Given the description of an element on the screen output the (x, y) to click on. 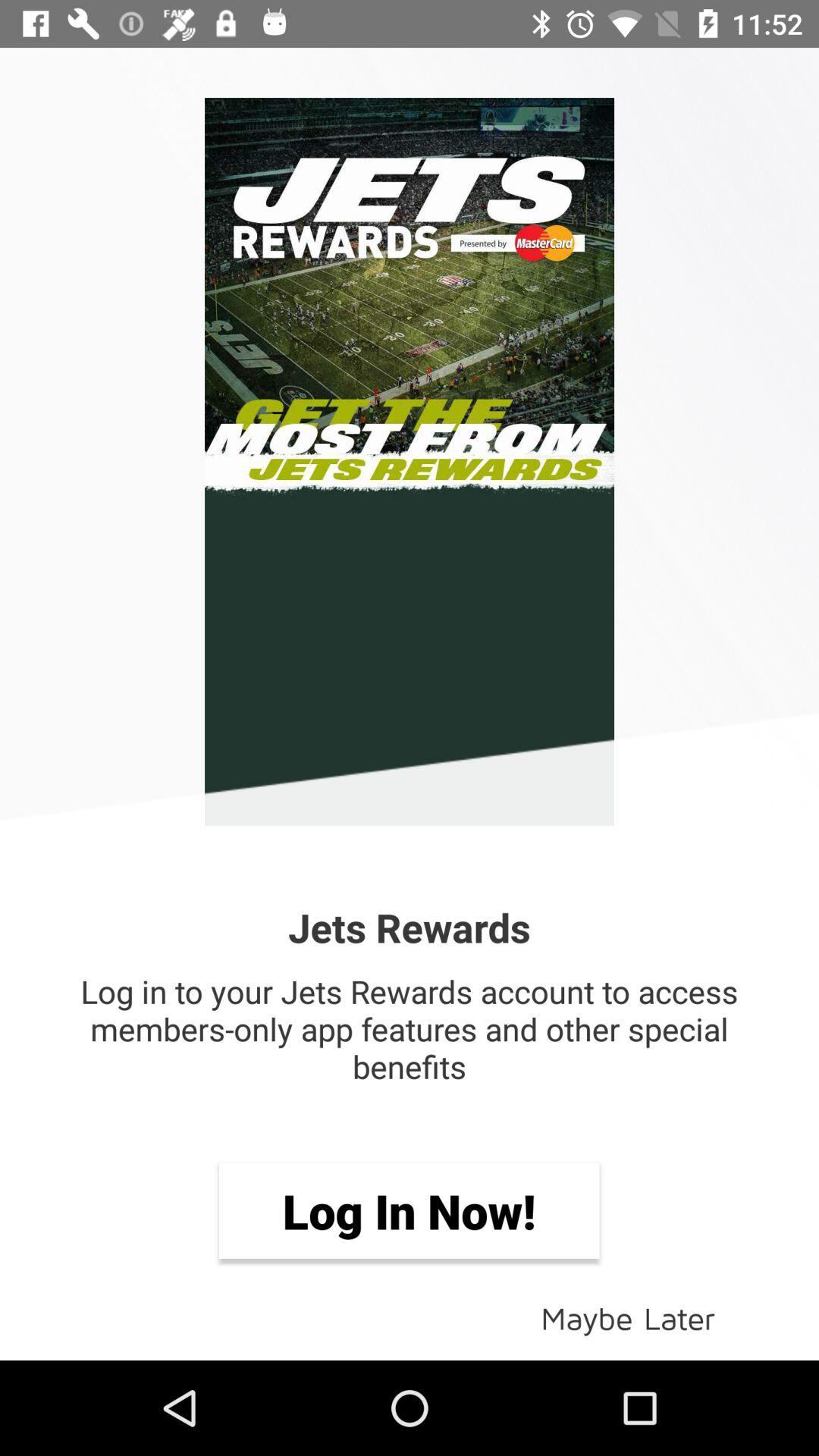
press maybe later icon (627, 1317)
